Given the description of an element on the screen output the (x, y) to click on. 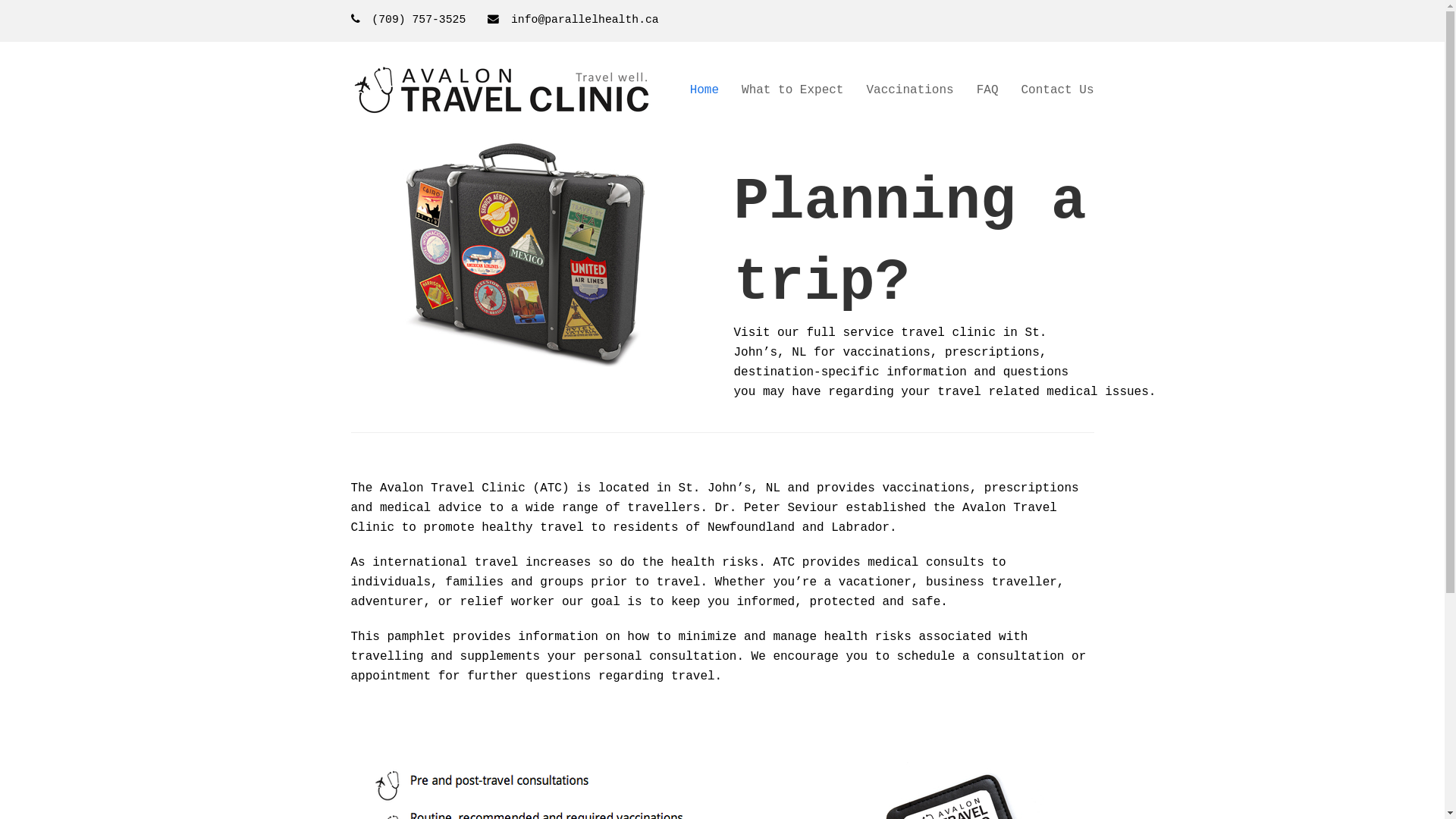
What to Expect Element type: text (792, 90)
FAQ Element type: text (987, 90)
Home Element type: text (704, 90)
2891589 Element type: hover (530, 252)
Vaccinations Element type: text (909, 90)
Contact Us Element type: text (1056, 90)
